Given the description of an element on the screen output the (x, y) to click on. 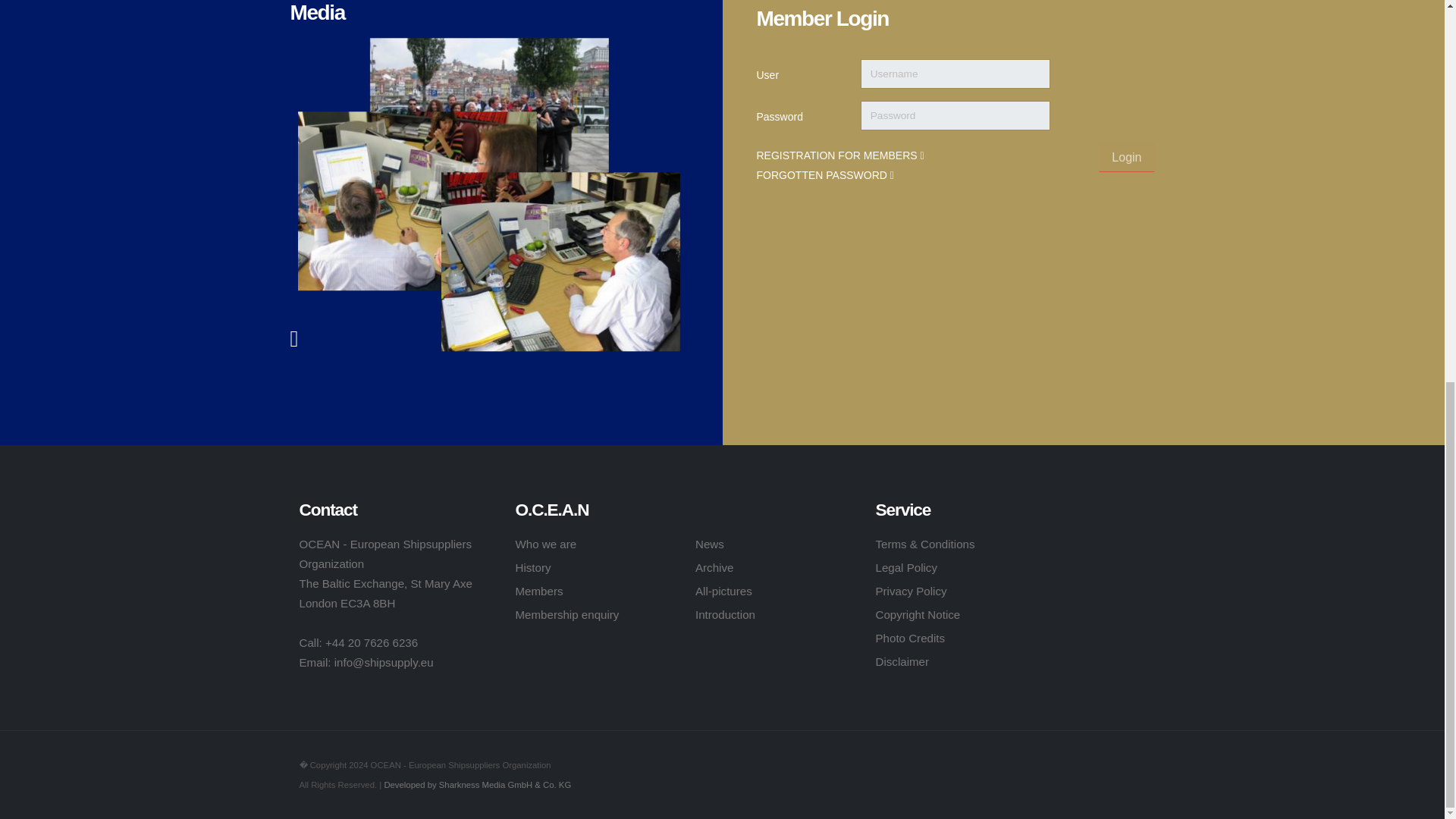
Login (1126, 156)
